Given the description of an element on the screen output the (x, y) to click on. 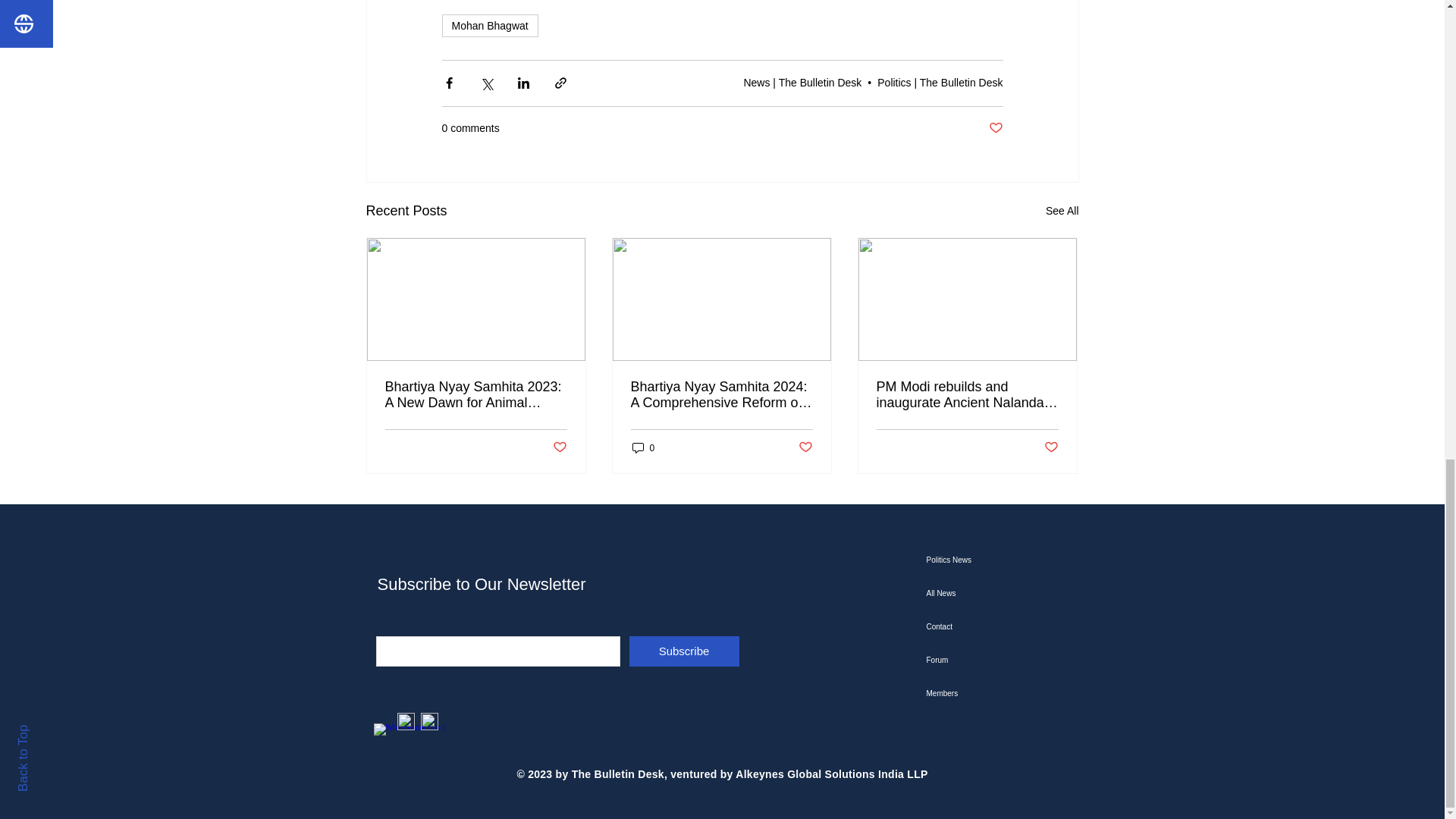
Mohan Bhagwat (489, 25)
Post not marked as liked (995, 128)
See All (1061, 210)
Post not marked as liked (558, 447)
